Given the description of an element on the screen output the (x, y) to click on. 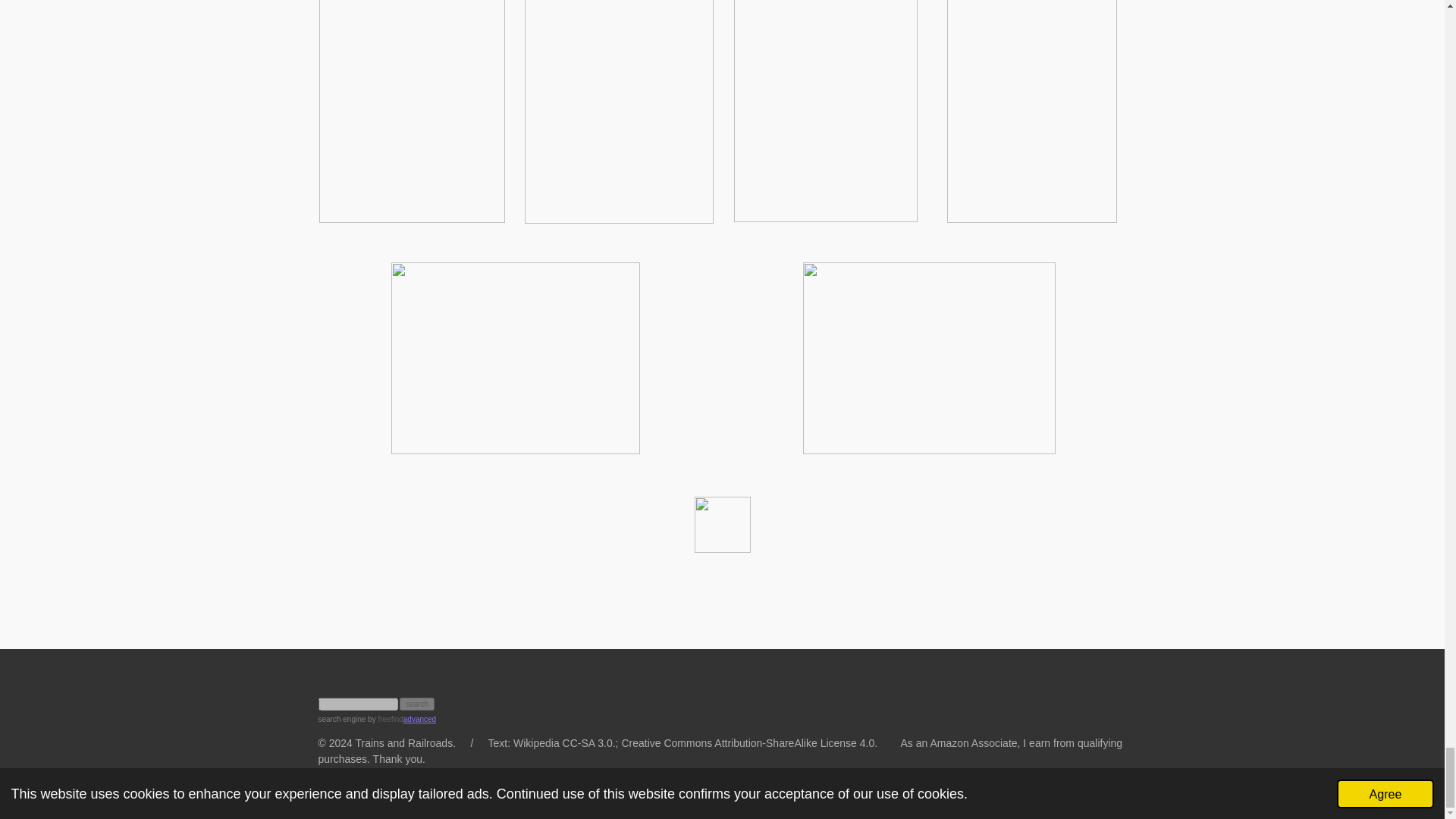
search (415, 703)
